Given the description of an element on the screen output the (x, y) to click on. 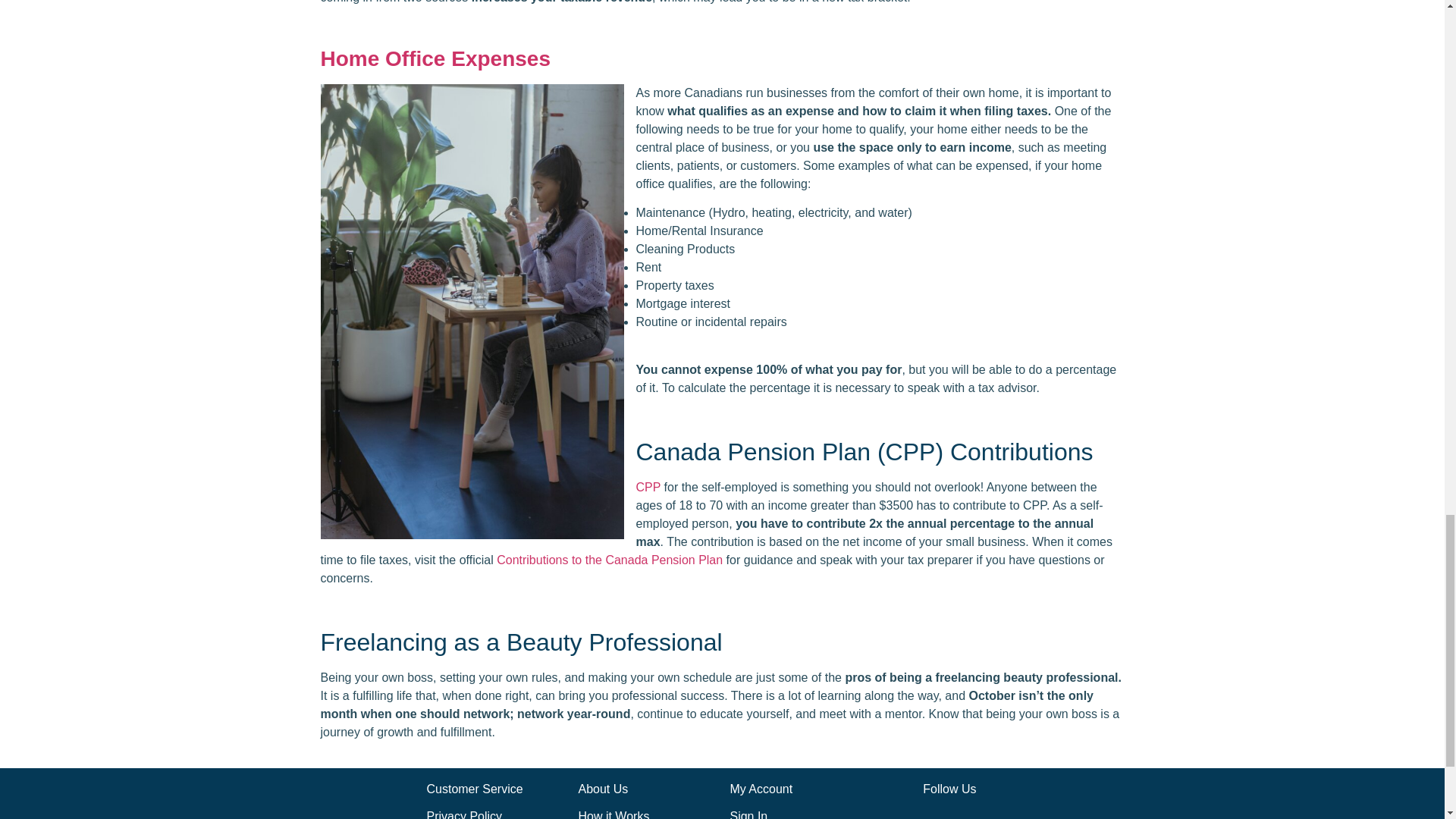
Privacy Policy (464, 814)
CPP (647, 486)
Sign In (748, 814)
Contributions to the Canada Pension Plan (609, 559)
How it Works (613, 814)
Home Office Expenses (435, 58)
